Given the description of an element on the screen output the (x, y) to click on. 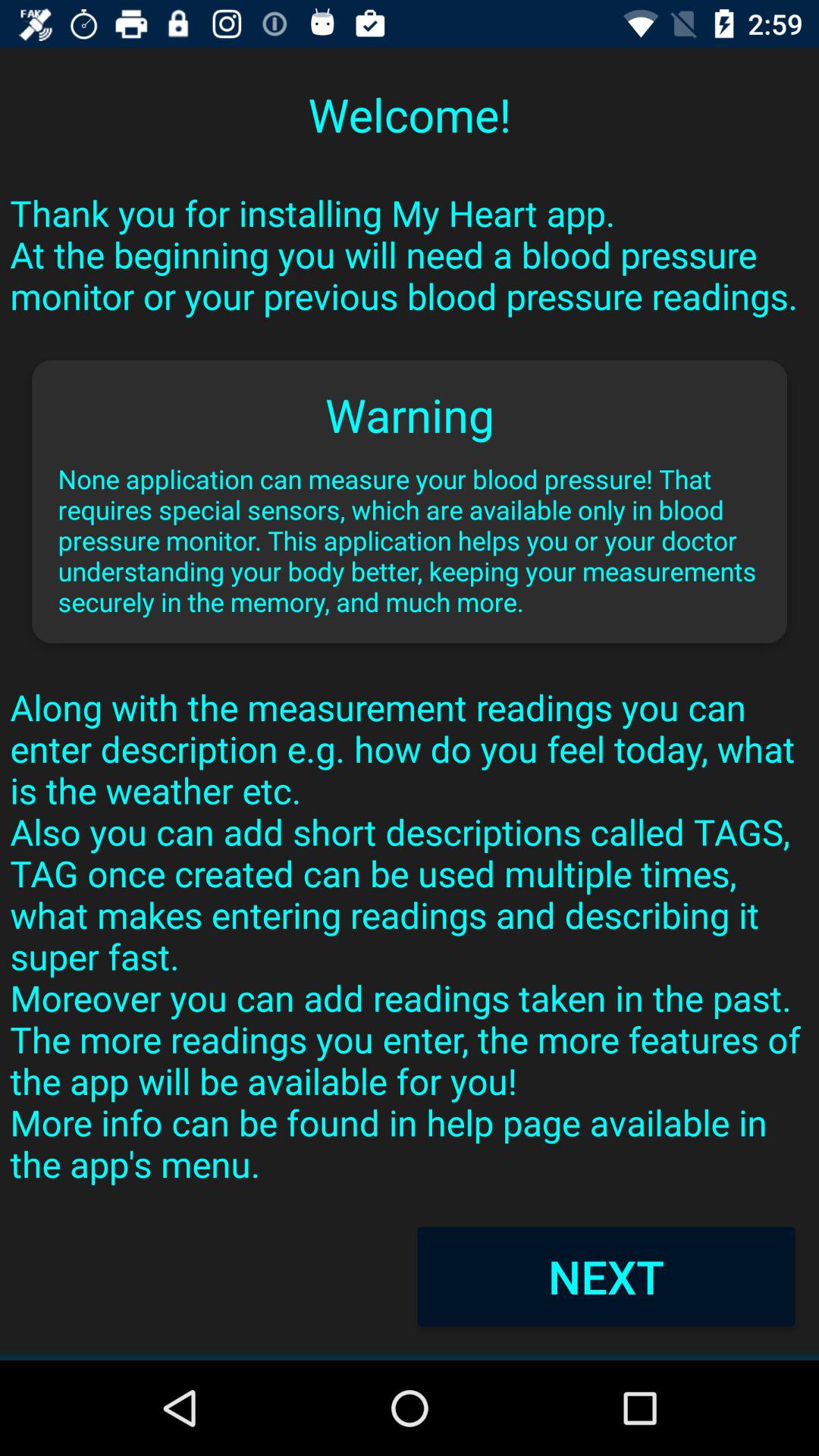
turn off the item at the bottom right corner (606, 1276)
